Given the description of an element on the screen output the (x, y) to click on. 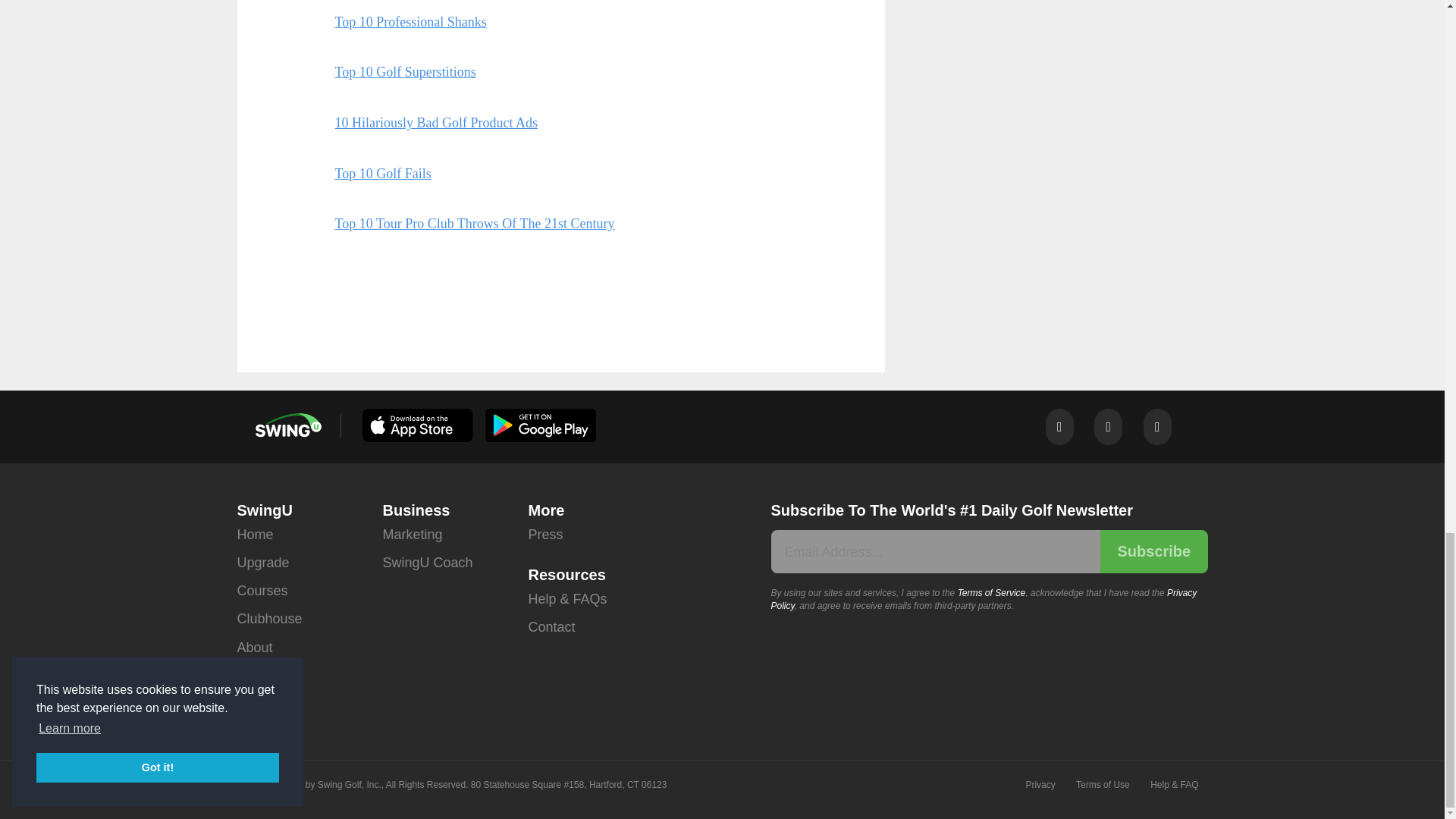
Subscribe (1153, 551)
About (253, 647)
Marketing (411, 534)
Courses (260, 591)
Top 10 Tour Pro Club Throws Of The 21st Century (474, 223)
Top 10 Golf Fails (382, 173)
Top 10 Golf Superstitions (405, 71)
Home (254, 534)
Contact (551, 627)
10 Hilariously Bad Golf Product Ads (436, 122)
